Given the description of an element on the screen output the (x, y) to click on. 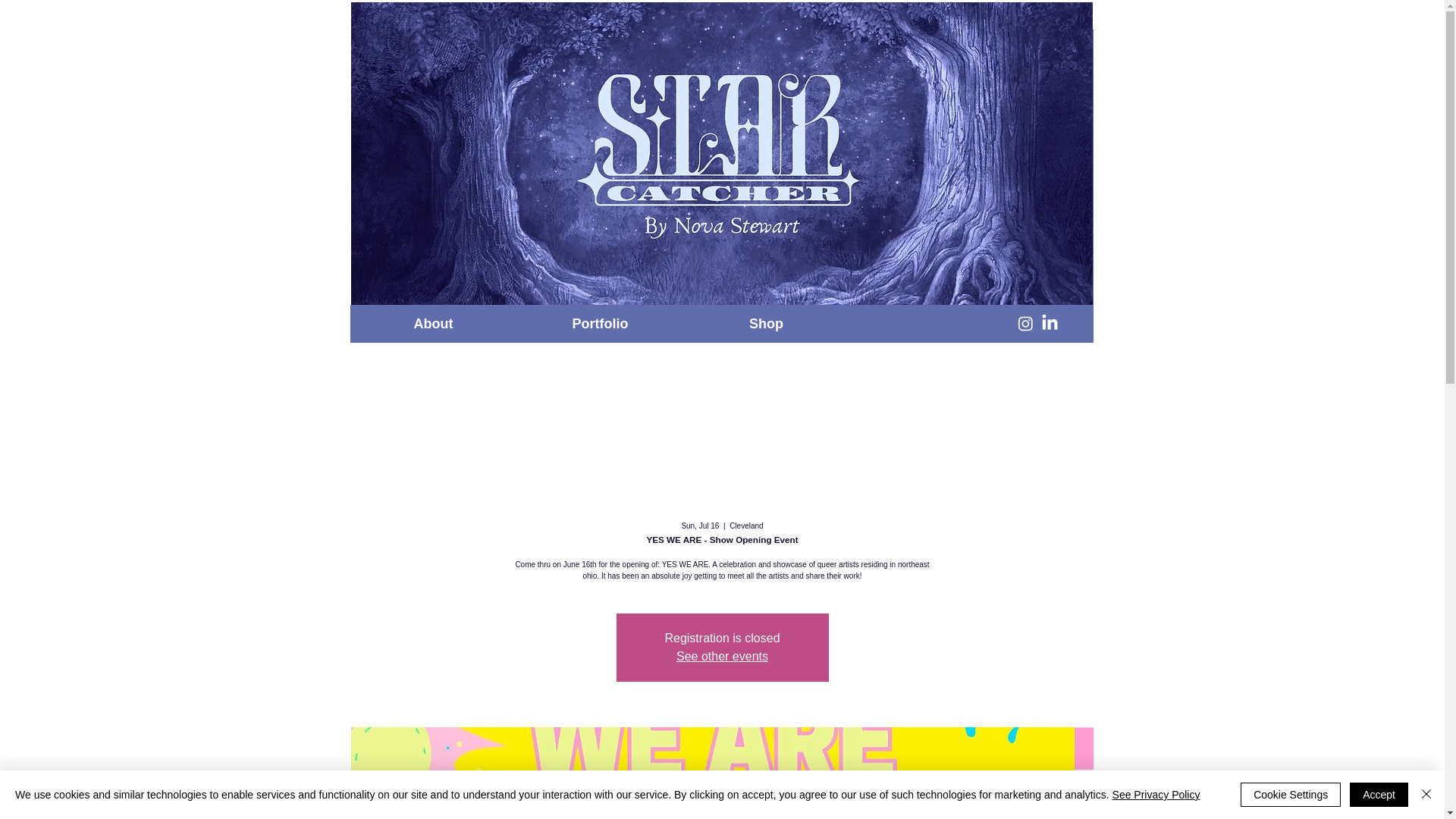
Accept (1378, 794)
Cookie Settings (1290, 794)
See other events (722, 656)
Shop (765, 323)
See Privacy Policy (1155, 794)
About (433, 323)
